Given the description of an element on the screen output the (x, y) to click on. 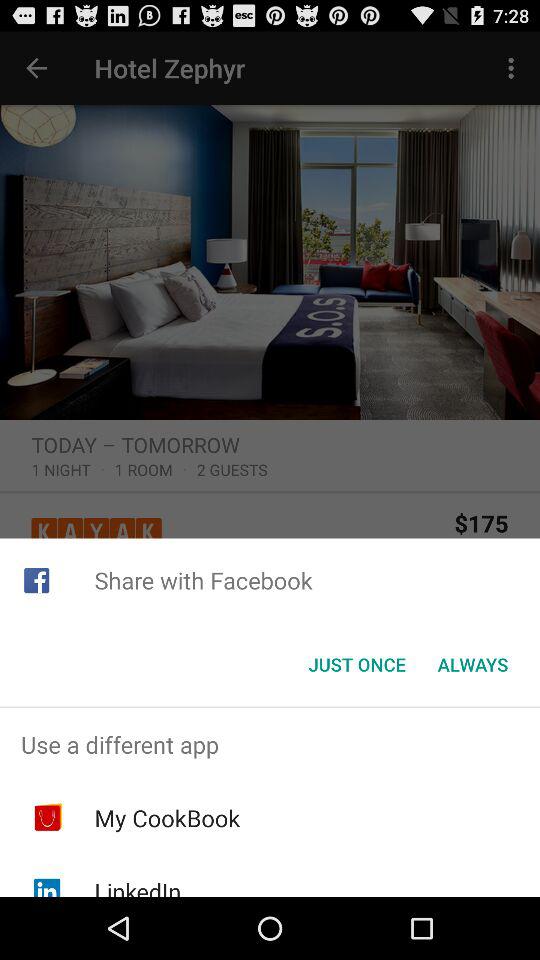
swipe until just once (356, 664)
